Given the description of an element on the screen output the (x, y) to click on. 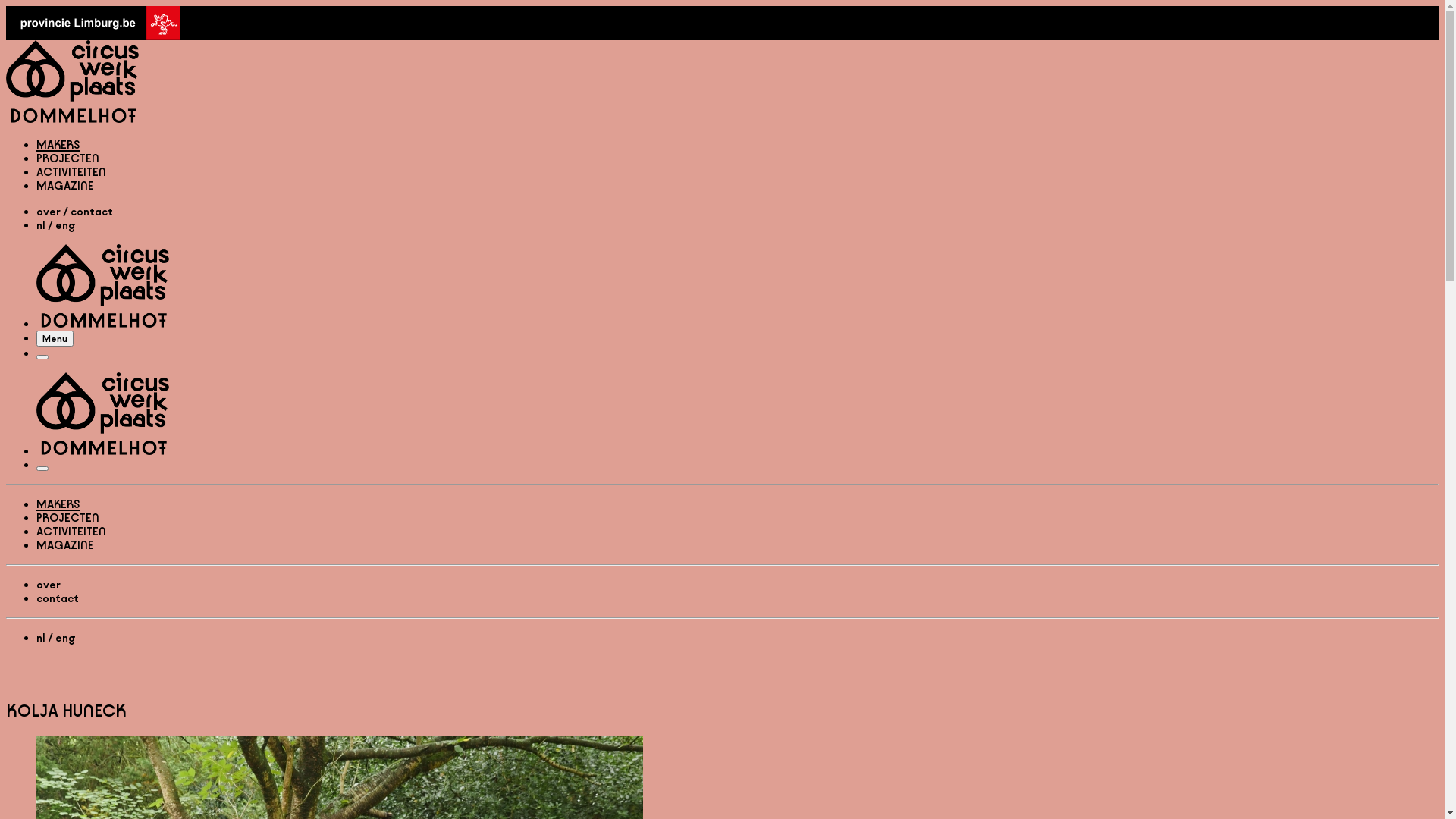
PROJECTEN Element type: text (67, 517)
nl Element type: text (40, 225)
Menu Element type: text (54, 338)
contact Element type: text (91, 211)
eng Element type: text (65, 225)
ACTIVITEITEN Element type: text (71, 530)
nl Element type: text (40, 637)
eng Element type: text (65, 637)
MAGAZINE Element type: text (65, 544)
contact Element type: text (57, 597)
MAKERS Element type: text (58, 144)
over Element type: text (48, 211)
ACTIVITEITEN Element type: text (71, 171)
PROJECTEN Element type: text (67, 157)
MAKERS Element type: text (58, 503)
over Element type: text (48, 583)
Menu Element type: hover (42, 356)
MAGAZINE Element type: text (65, 184)
